Given the description of an element on the screen output the (x, y) to click on. 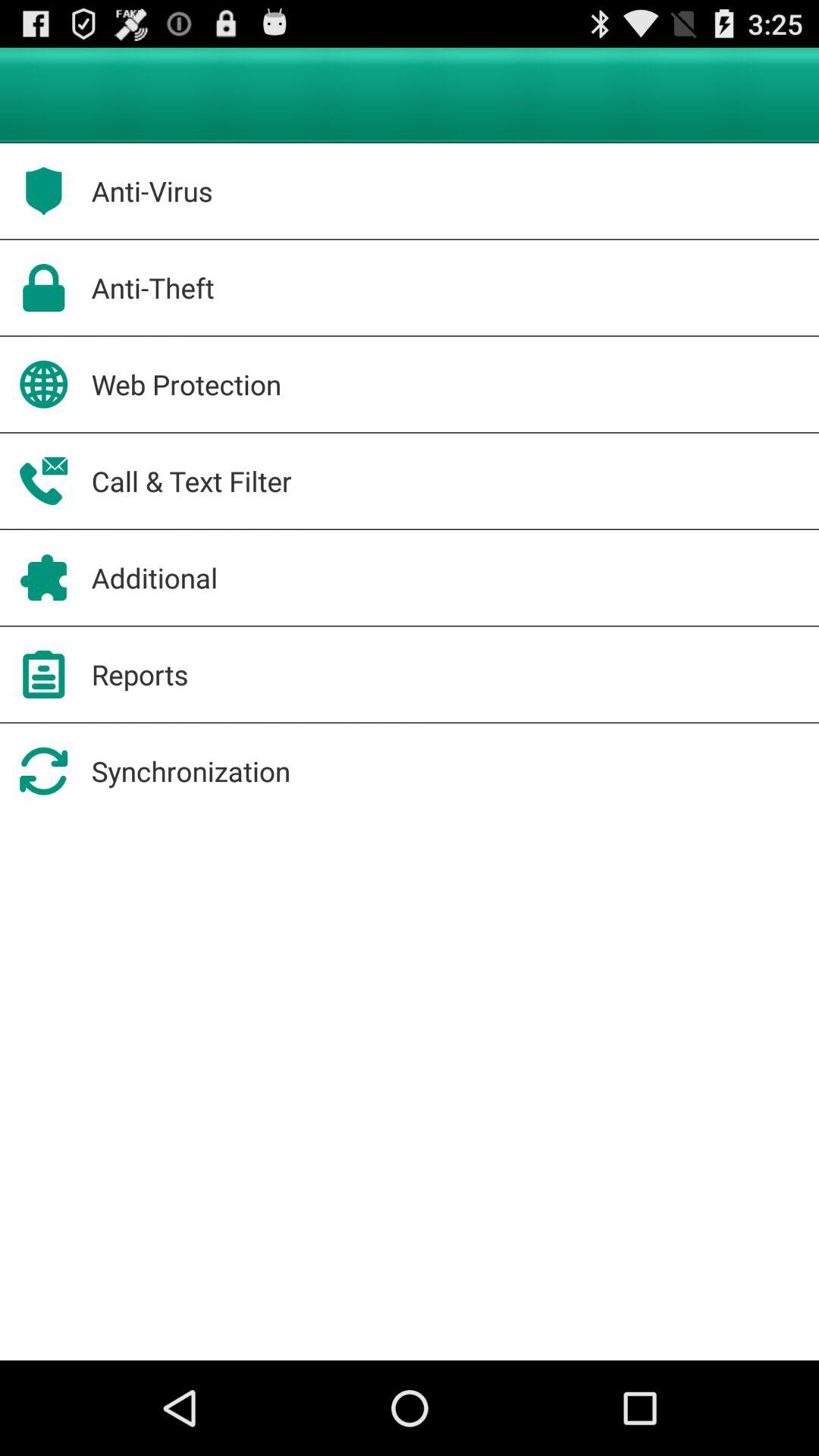
press the item above call & text filter icon (186, 384)
